Given the description of an element on the screen output the (x, y) to click on. 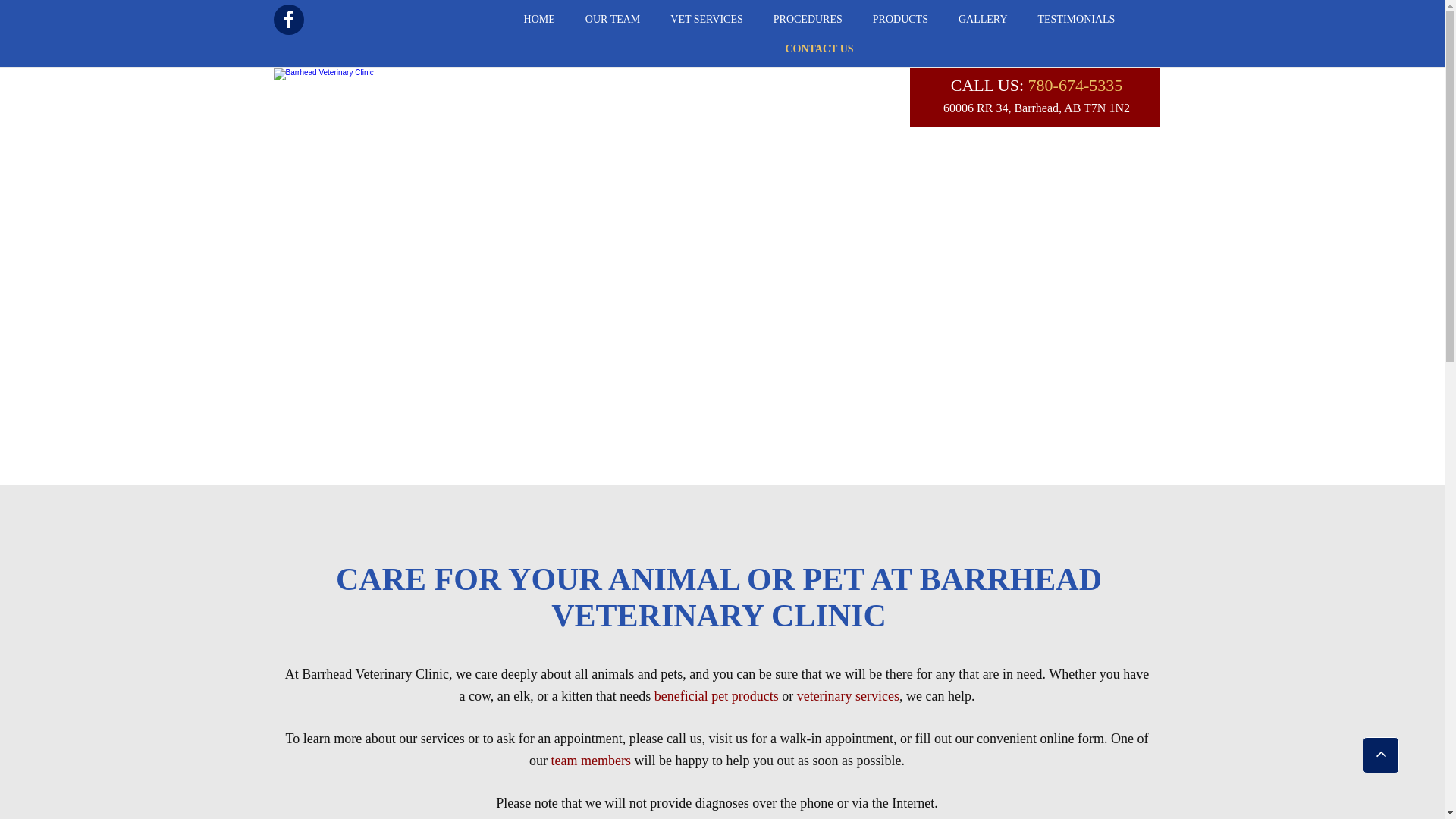
HOME Element type: text (539, 19)
780-674-5335 Element type: text (1075, 88)
VET SERVICES Element type: text (706, 19)
beneficial pet products Element type: text (716, 697)
GALLERY Element type: text (982, 19)
TESTIMONIALS Element type: text (1075, 19)
team members Element type: text (590, 762)
PRODUCTS Element type: text (900, 19)
PROCEDURES Element type: text (807, 19)
veterinary services Element type: text (848, 697)
OUR TEAM Element type: text (612, 19)
CONTACT US Element type: text (818, 48)
